Given the description of an element on the screen output the (x, y) to click on. 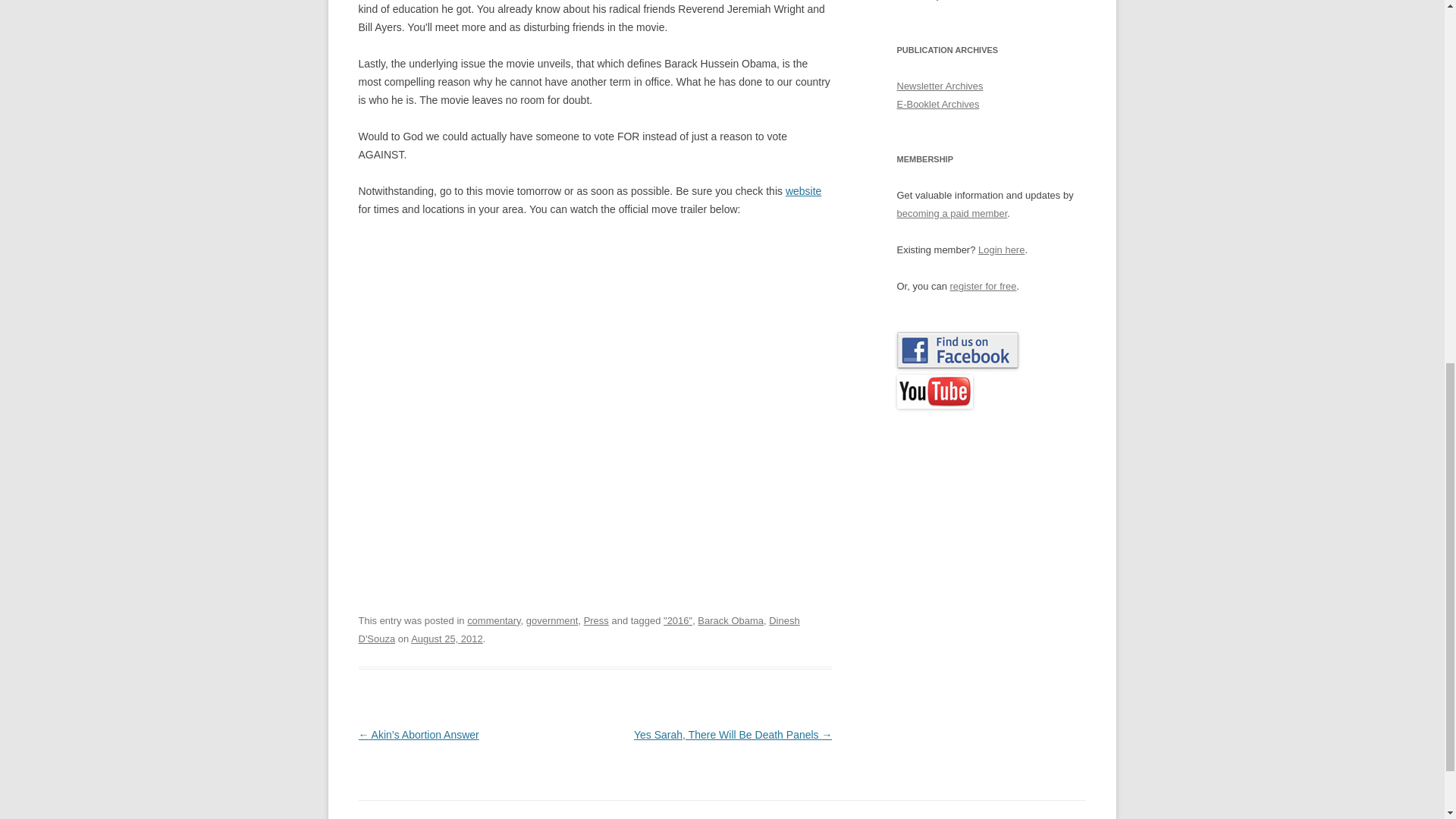
10:34 pm (446, 638)
Press (595, 620)
Newsletter Archives (939, 85)
E-Booklet Archives (937, 103)
Newsletter Archives (939, 85)
government (551, 620)
August 25, 2012 (446, 638)
E-Booklet Archives (937, 103)
Dinesh D'Souza (578, 629)
commentary (493, 620)
